Given the description of an element on the screen output the (x, y) to click on. 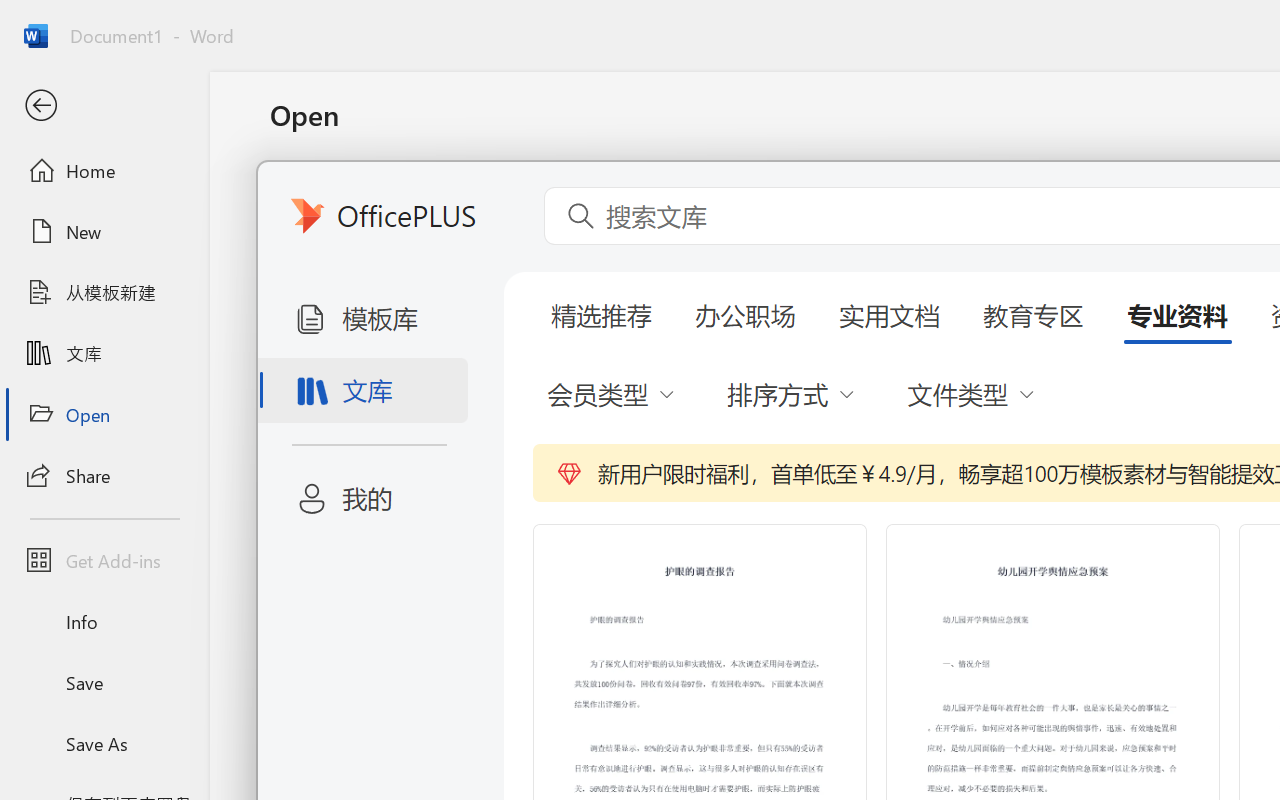
Save As (104, 743)
Get Add-ins (104, 560)
